Given the description of an element on the screen output the (x, y) to click on. 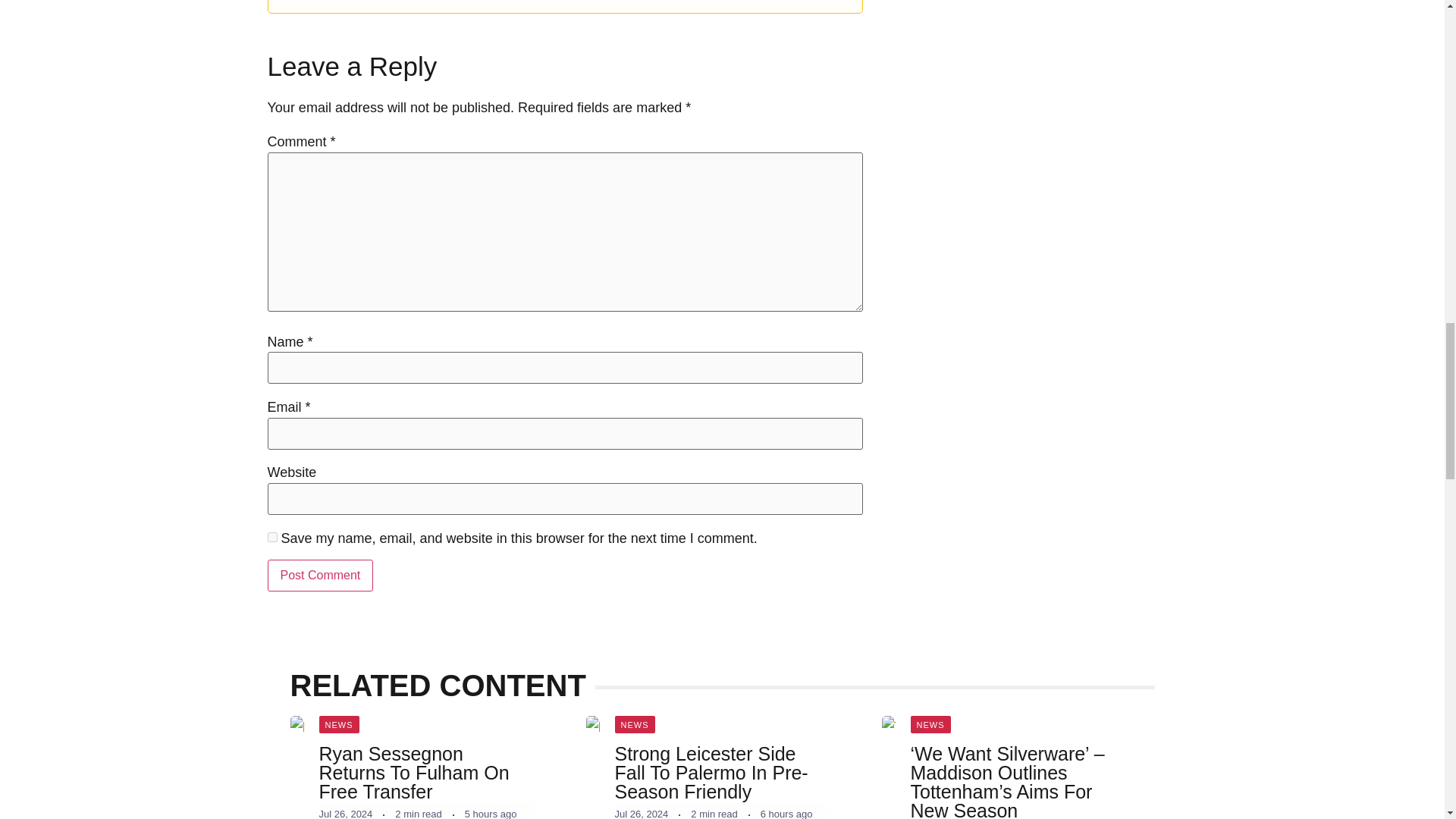
yes (271, 537)
Post Comment (319, 575)
